Given the description of an element on the screen output the (x, y) to click on. 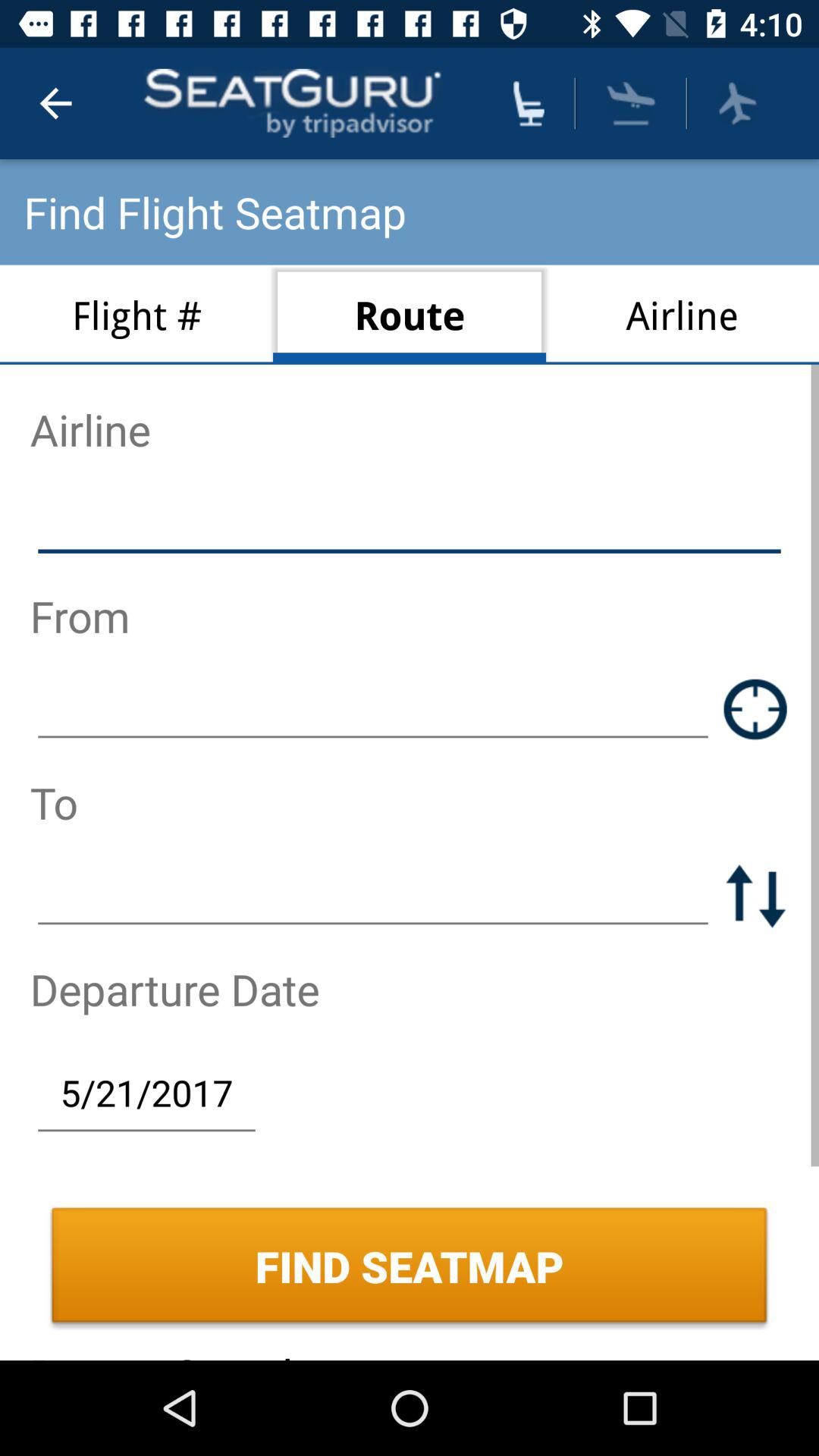
swipe to route item (409, 314)
